Given the description of an element on the screen output the (x, y) to click on. 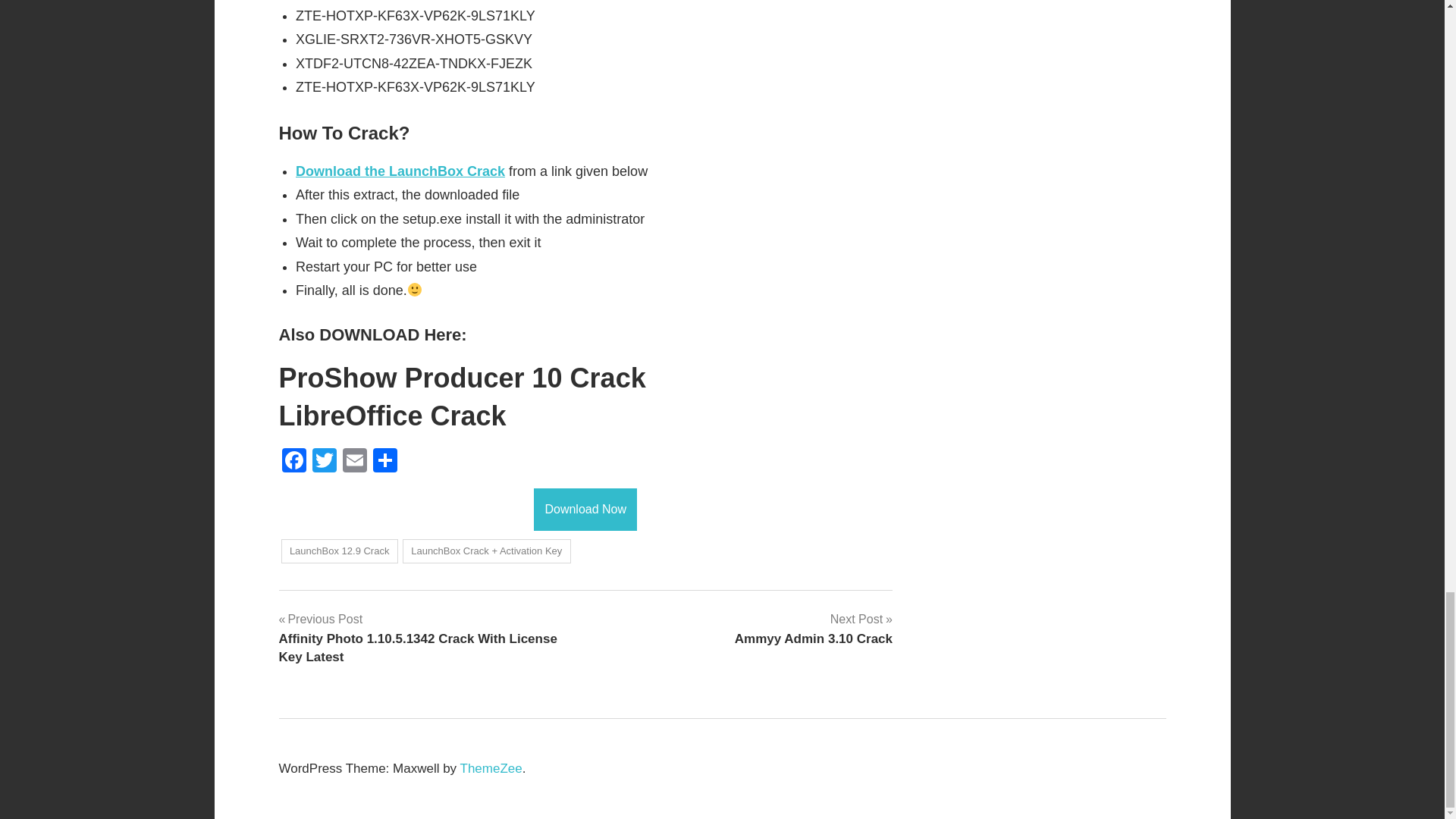
Twitter (323, 461)
Email (354, 461)
Share (384, 461)
ThemeZee (813, 628)
ProShow Producer 10 Crack (491, 768)
Download the LaunchBox Crack (462, 377)
Facebook (400, 171)
Email (293, 461)
Download Now (354, 461)
Facebook (585, 509)
LaunchBox 12.9 Crack (293, 461)
Download Now (339, 551)
Twitter (585, 508)
